Given the description of an element on the screen output the (x, y) to click on. 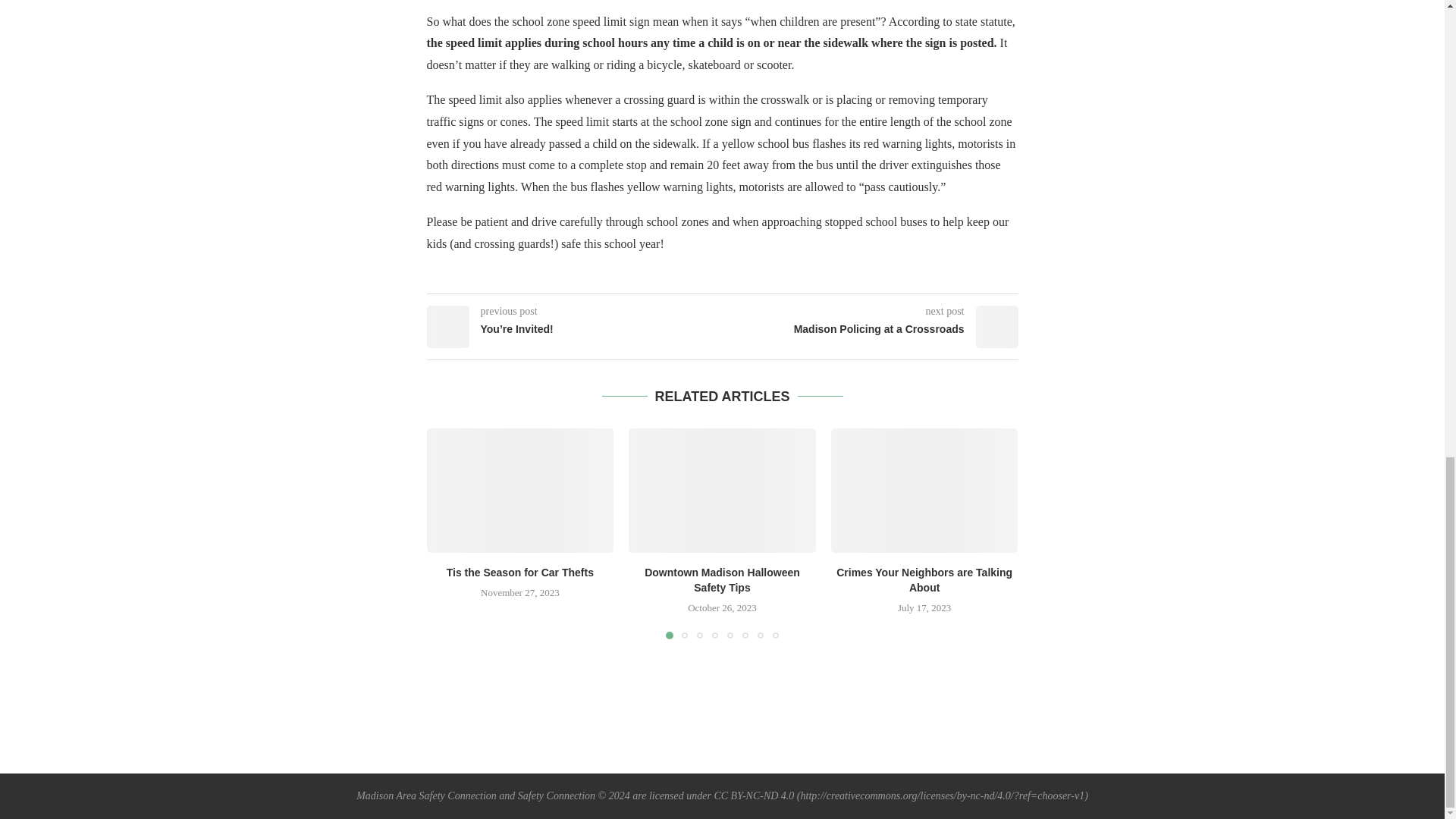
Tis the Season for Car Thefts (519, 490)
Downtown Madison Halloween Safety Tips (722, 579)
Downtown Madison Halloween Safety Tips (721, 490)
Madison Policing at a Crossroads (869, 329)
Crimes Your Neighbors are Talking About (923, 579)
Crimes Your Neighbors are Talking About (924, 490)
Tis the Season for Car Thefts (520, 572)
